Given the description of an element on the screen output the (x, y) to click on. 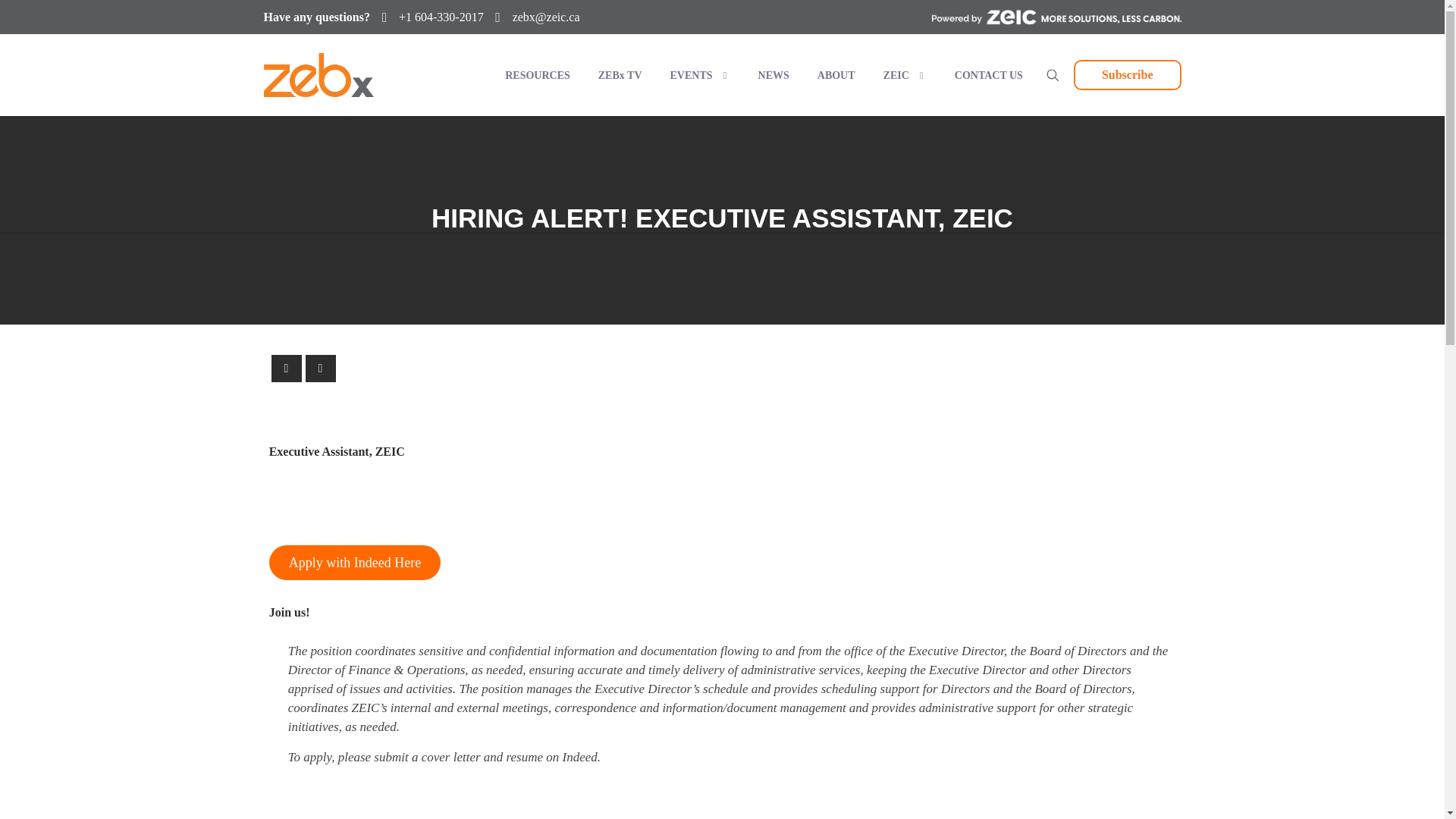
NEWS (772, 75)
EVENTS (698, 75)
ZEBx TV (619, 75)
CONTACT US (987, 75)
ABOUT (834, 75)
ZEIC (903, 75)
Subscribe (1127, 74)
RESOURCES (536, 75)
